Given the description of an element on the screen output the (x, y) to click on. 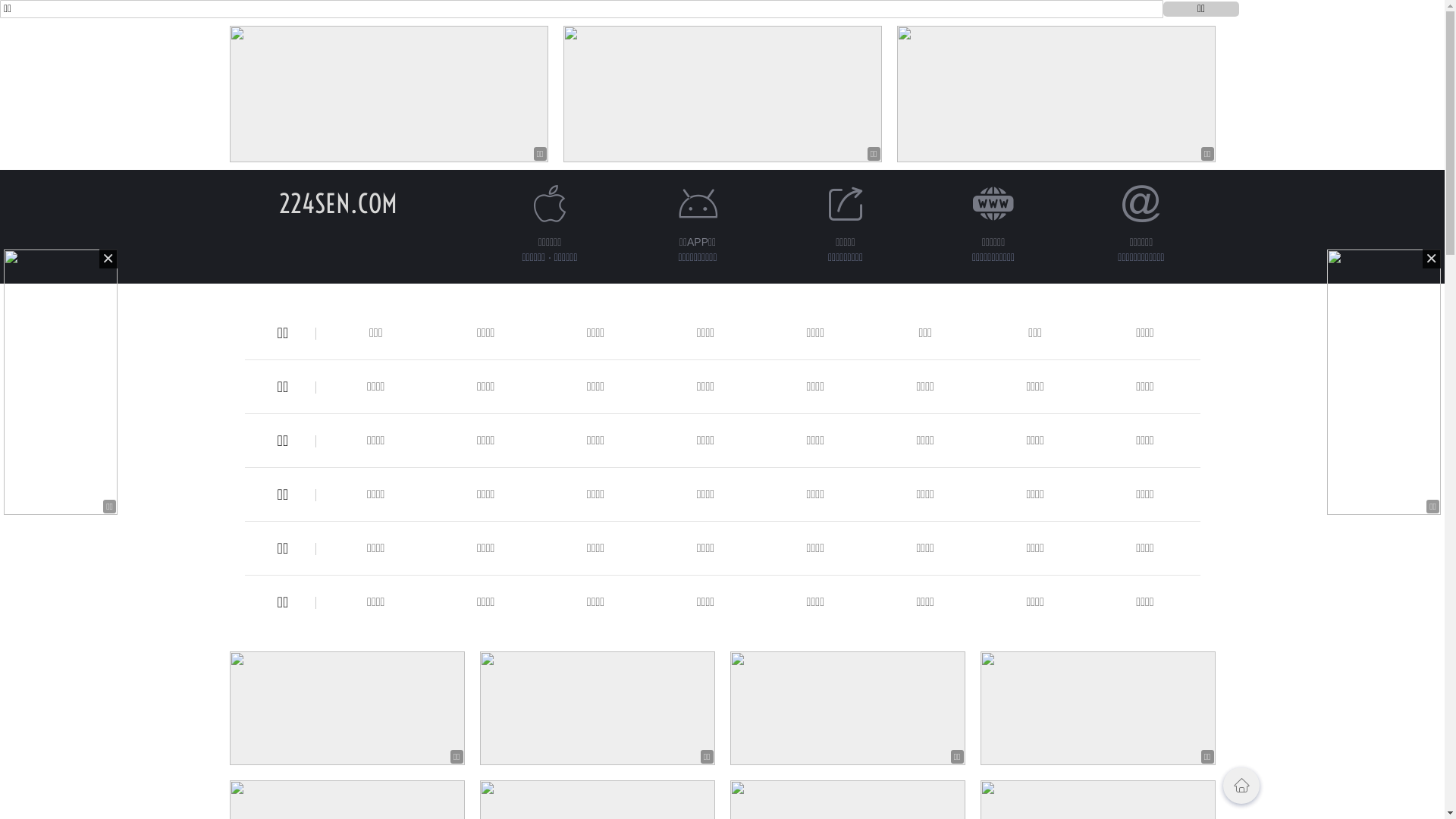
224SEN.COM Element type: text (338, 203)
